Given the description of an element on the screen output the (x, y) to click on. 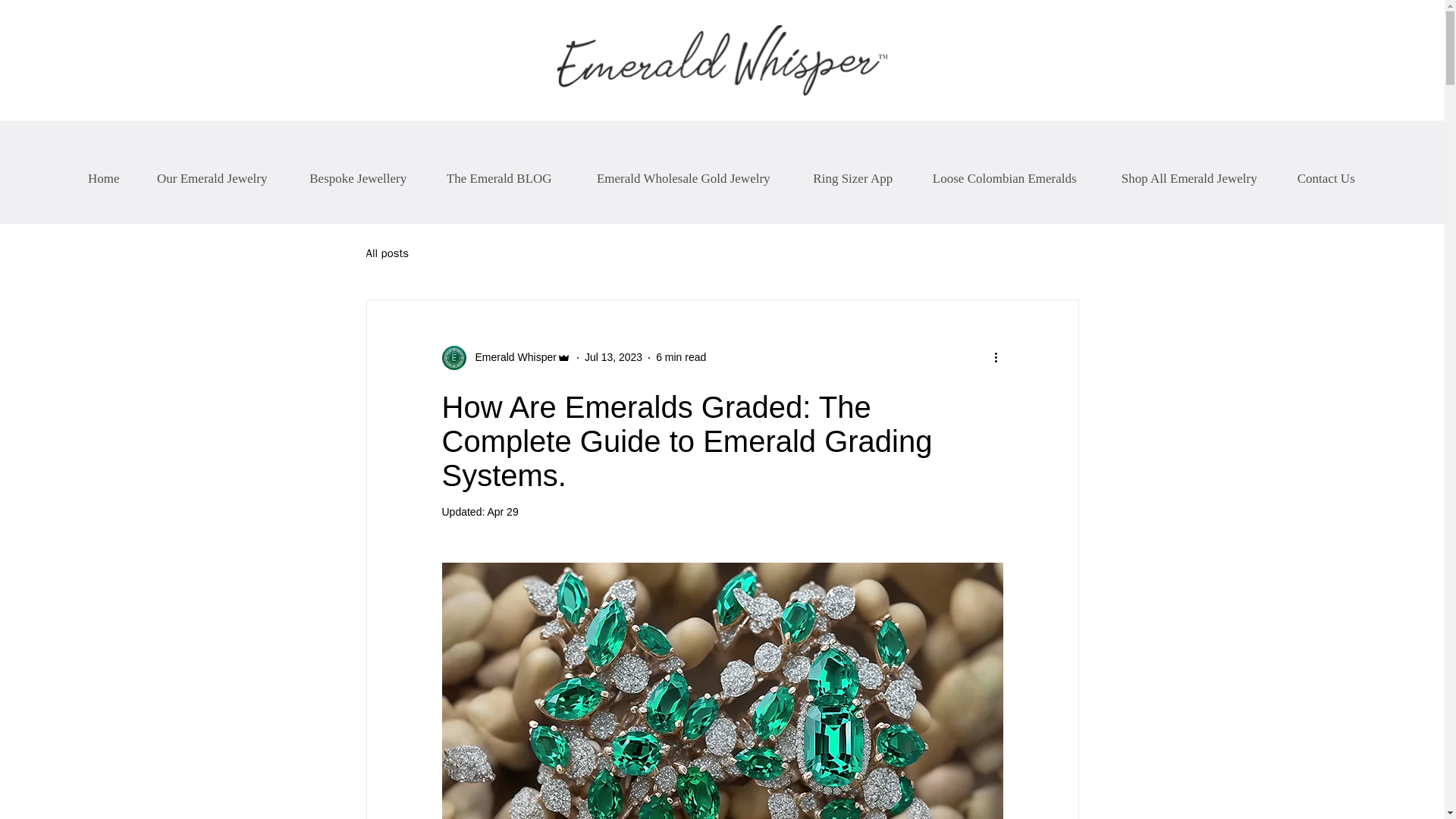
Bespoke Jewellery (357, 171)
Jul 13, 2023 (613, 357)
Contact Us (1326, 171)
Apr 29 (502, 511)
6 min read (681, 357)
All posts (387, 253)
Shop All Emerald Jewelry (1189, 171)
Emerald Whisper (510, 357)
Loose Colombian Emeralds (1004, 171)
Ring Sizer App (852, 171)
